Given the description of an element on the screen output the (x, y) to click on. 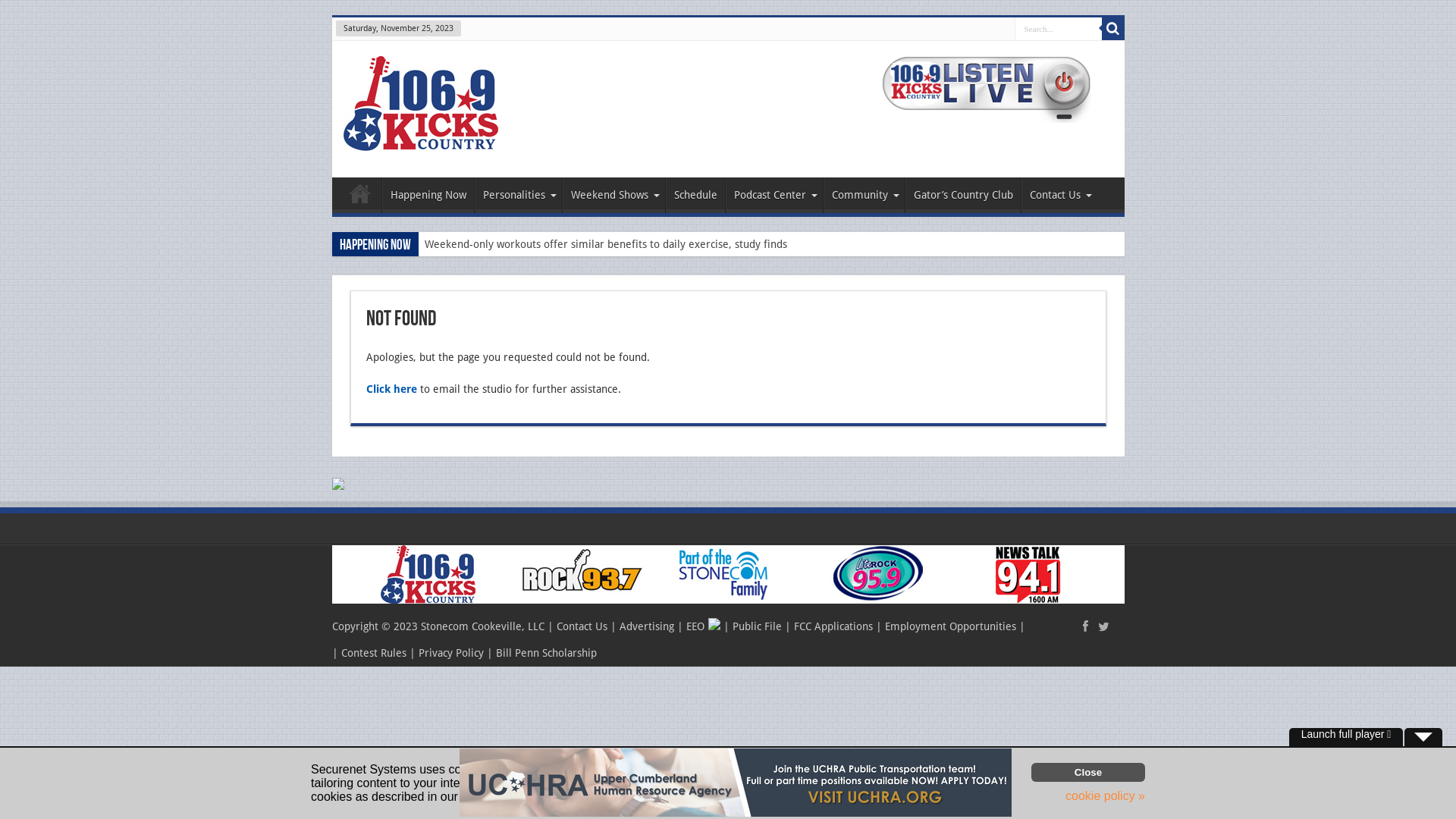
Advertising Element type: text (645, 626)
Privacy Policy Element type: text (450, 652)
Contest Rules Element type: text (373, 652)
EEO Element type: text (694, 626)
Public File Element type: text (756, 626)
Podcast Center Element type: text (773, 195)
Schedule Element type: text (694, 195)
Weekend Shows Element type: text (613, 195)
Personalities Element type: text (517, 195)
Contact Us Element type: text (1058, 195)
Search Element type: text (1112, 28)
Bill Penn Scholarship Element type: text (545, 652)
Employment Opportunities Element type: text (949, 626)
Click here Element type: text (390, 388)
Stonecom Cookeville, LLC Element type: text (481, 626)
Contact Us Element type: text (581, 626)
Happening Now Element type: text (427, 195)
FCC Applications Element type: text (832, 626)
Home Element type: text (360, 196)
Community Element type: text (863, 195)
106-9 Kicks Country Element type: hover (419, 139)
